Given the description of an element on the screen output the (x, y) to click on. 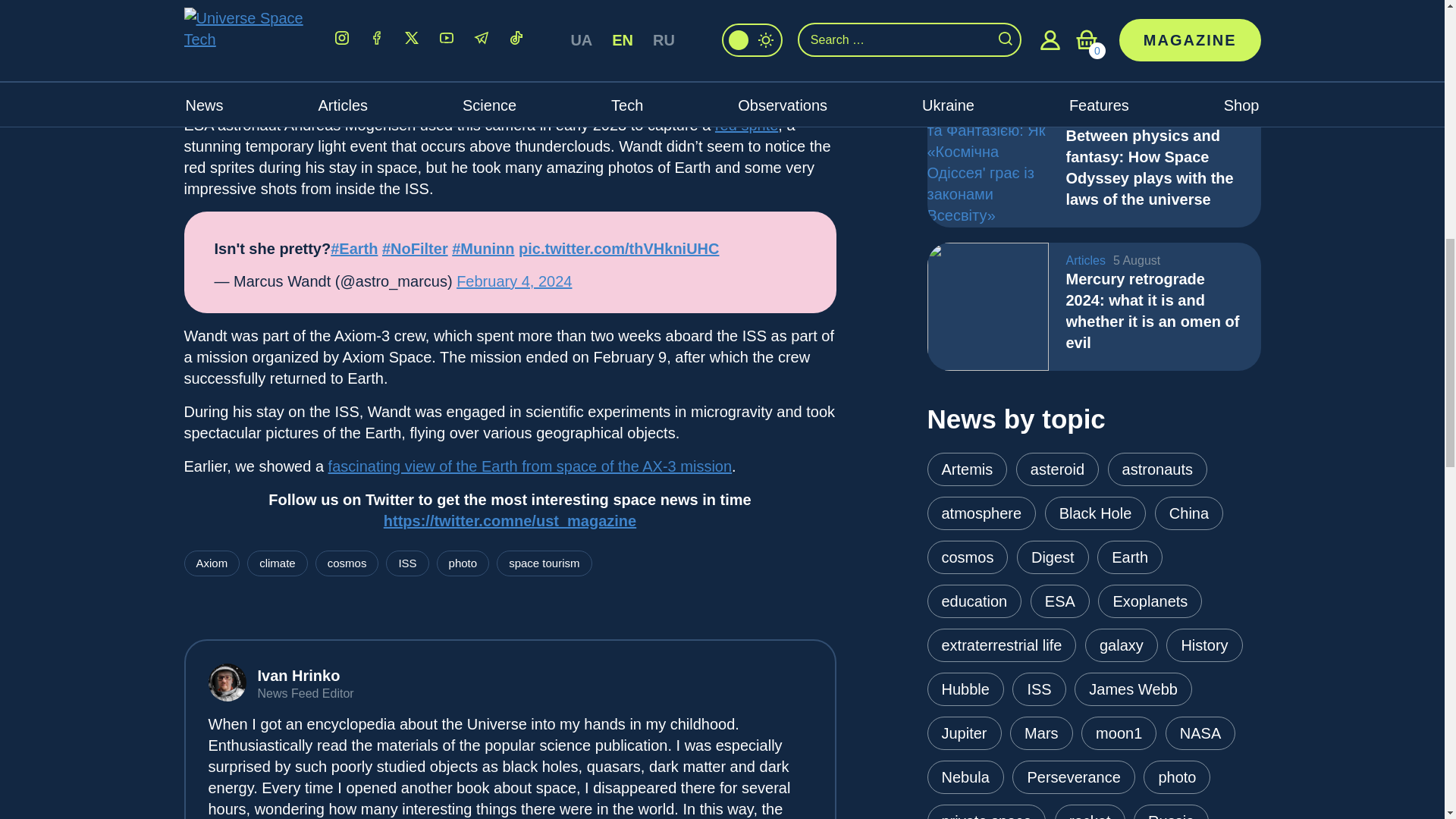
red sprite (745, 125)
